Given the description of an element on the screen output the (x, y) to click on. 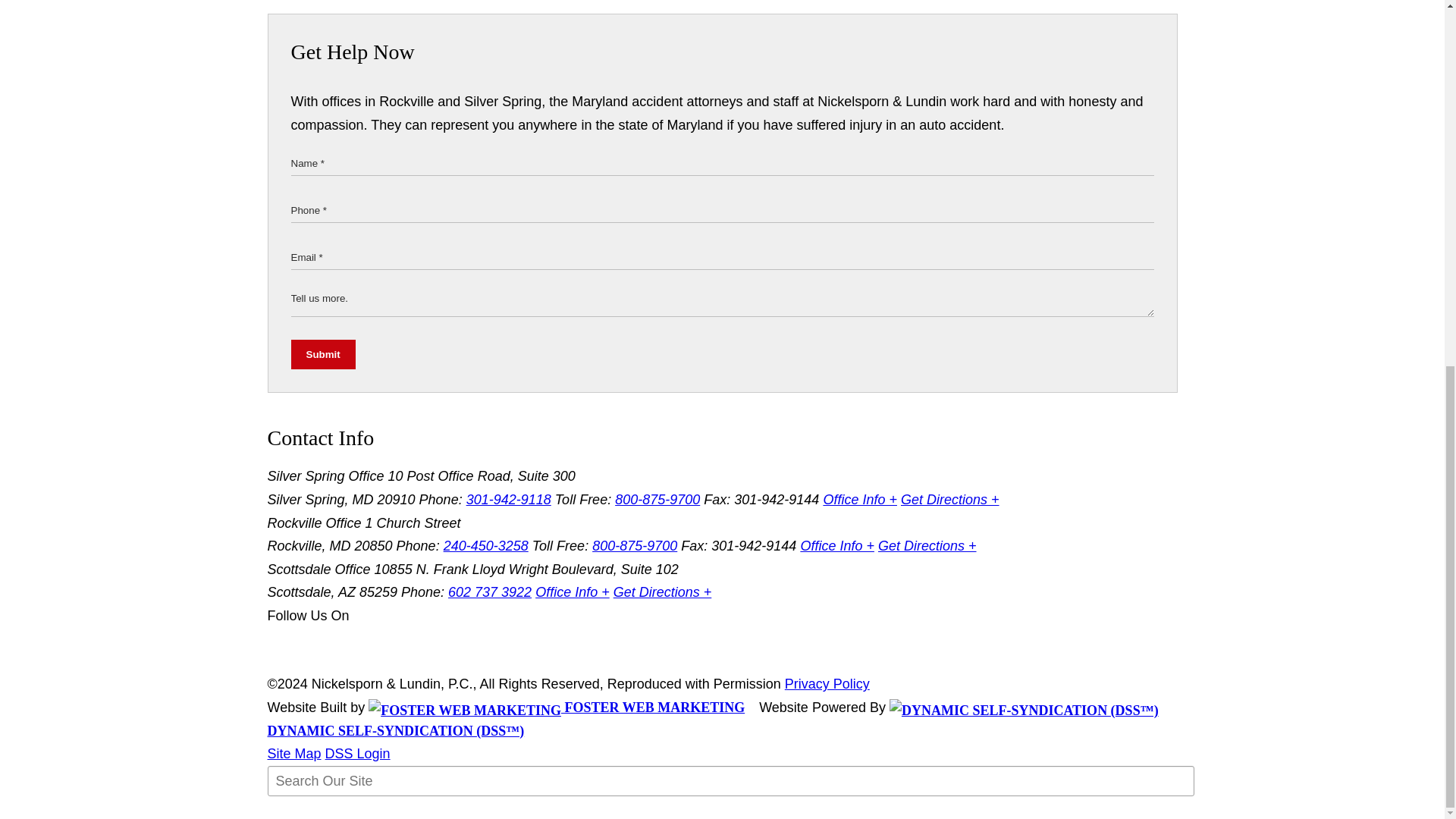
240-450-3258 (486, 545)
800-875-9700 (657, 499)
Submit (323, 354)
800-875-9700 (634, 545)
301-942-9118 (508, 499)
602 737 3922 (489, 591)
